Given the description of an element on the screen output the (x, y) to click on. 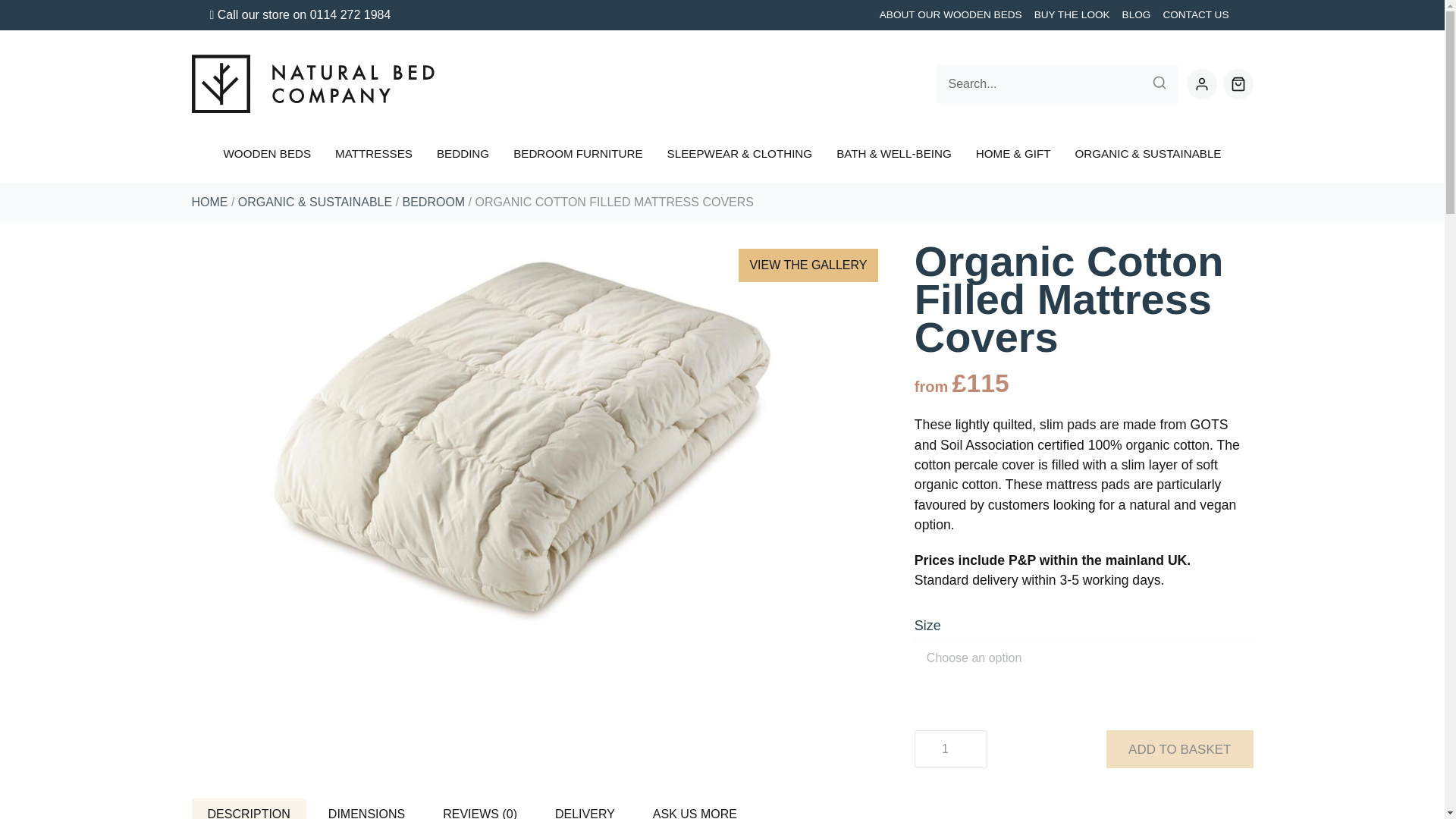
CONTACT US (1195, 14)
1 (950, 749)
BUY THE LOOK (1071, 14)
0114 272 1984 (350, 14)
My Account (1200, 83)
BLOG (1136, 14)
ABOUT OUR WOODEN BEDS (950, 14)
View your shopping cart (1237, 83)
